Given the description of an element on the screen output the (x, y) to click on. 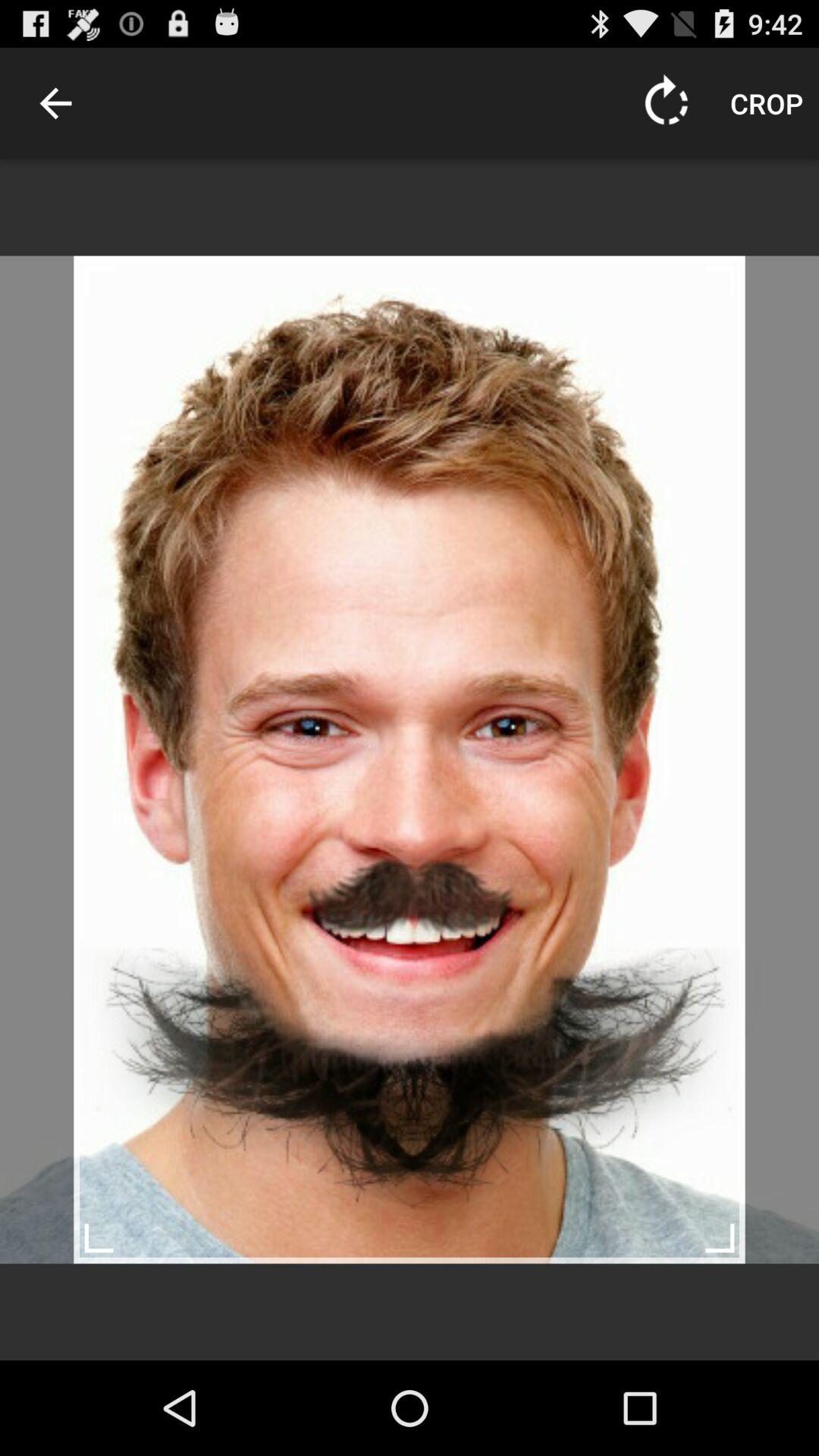
tap the crop icon (766, 103)
